Given the description of an element on the screen output the (x, y) to click on. 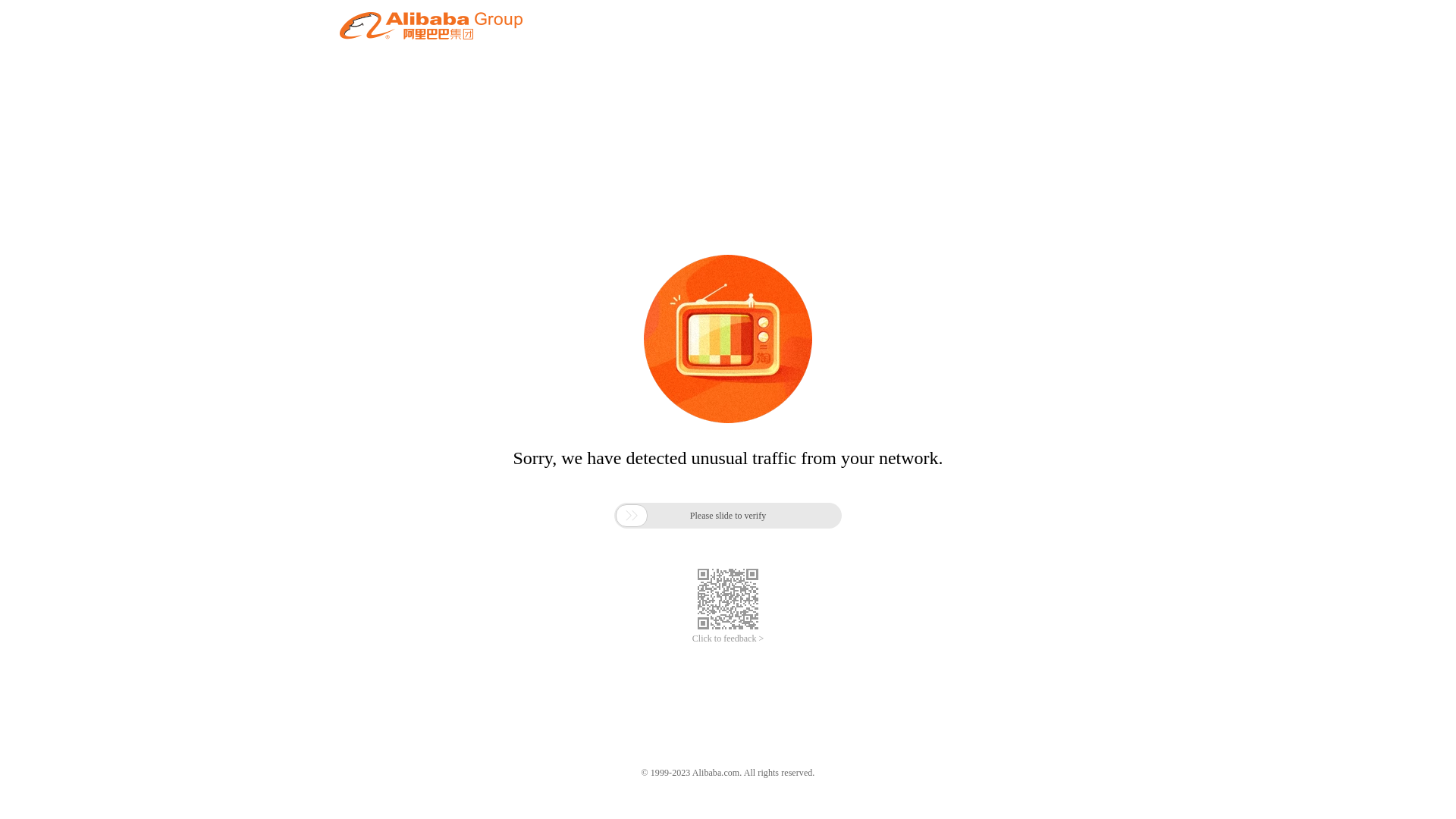
Click to feedback > Element type: text (727, 638)
